Given the description of an element on the screen output the (x, y) to click on. 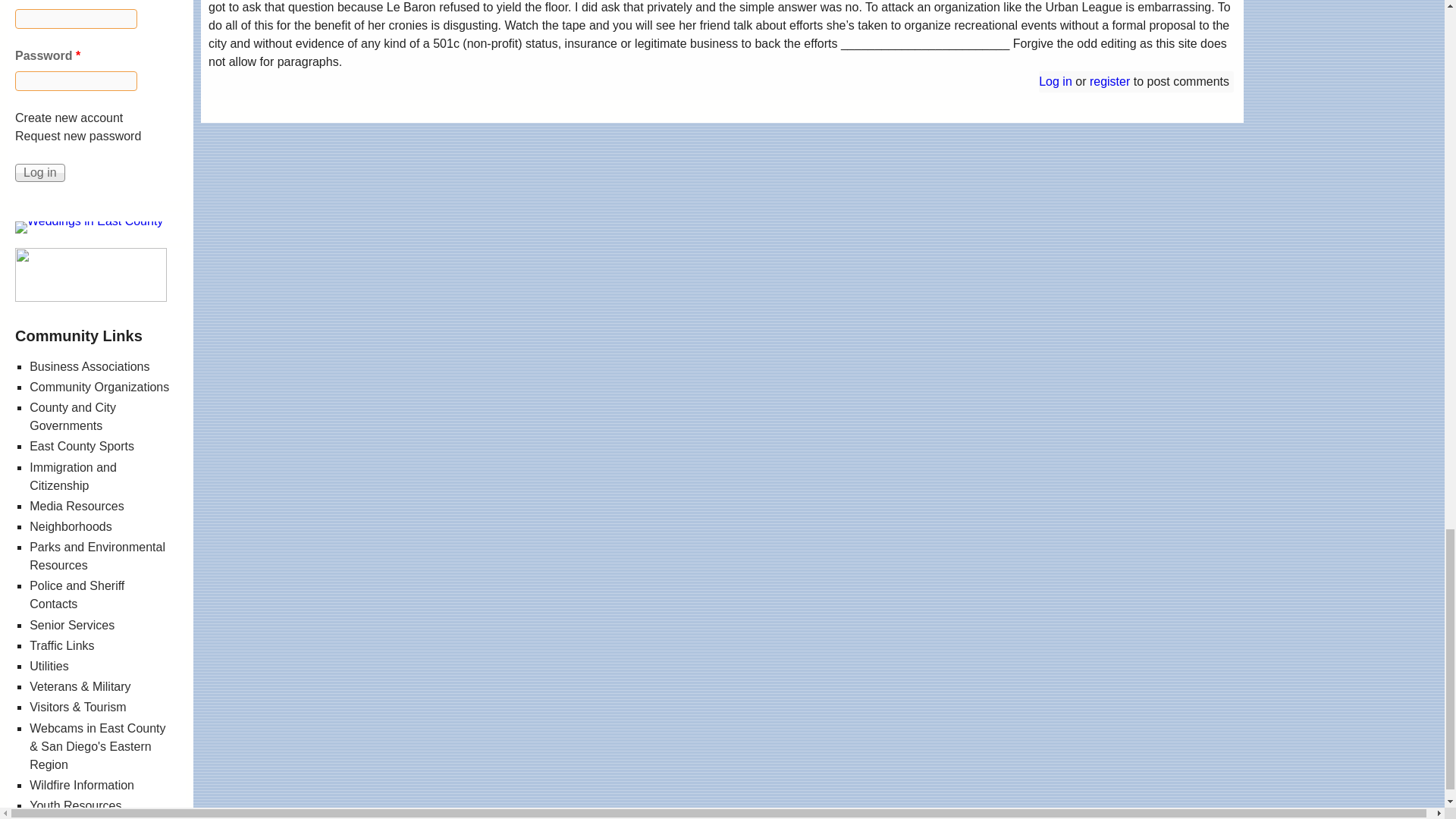
Log in (39, 172)
